Given the description of an element on the screen output the (x, y) to click on. 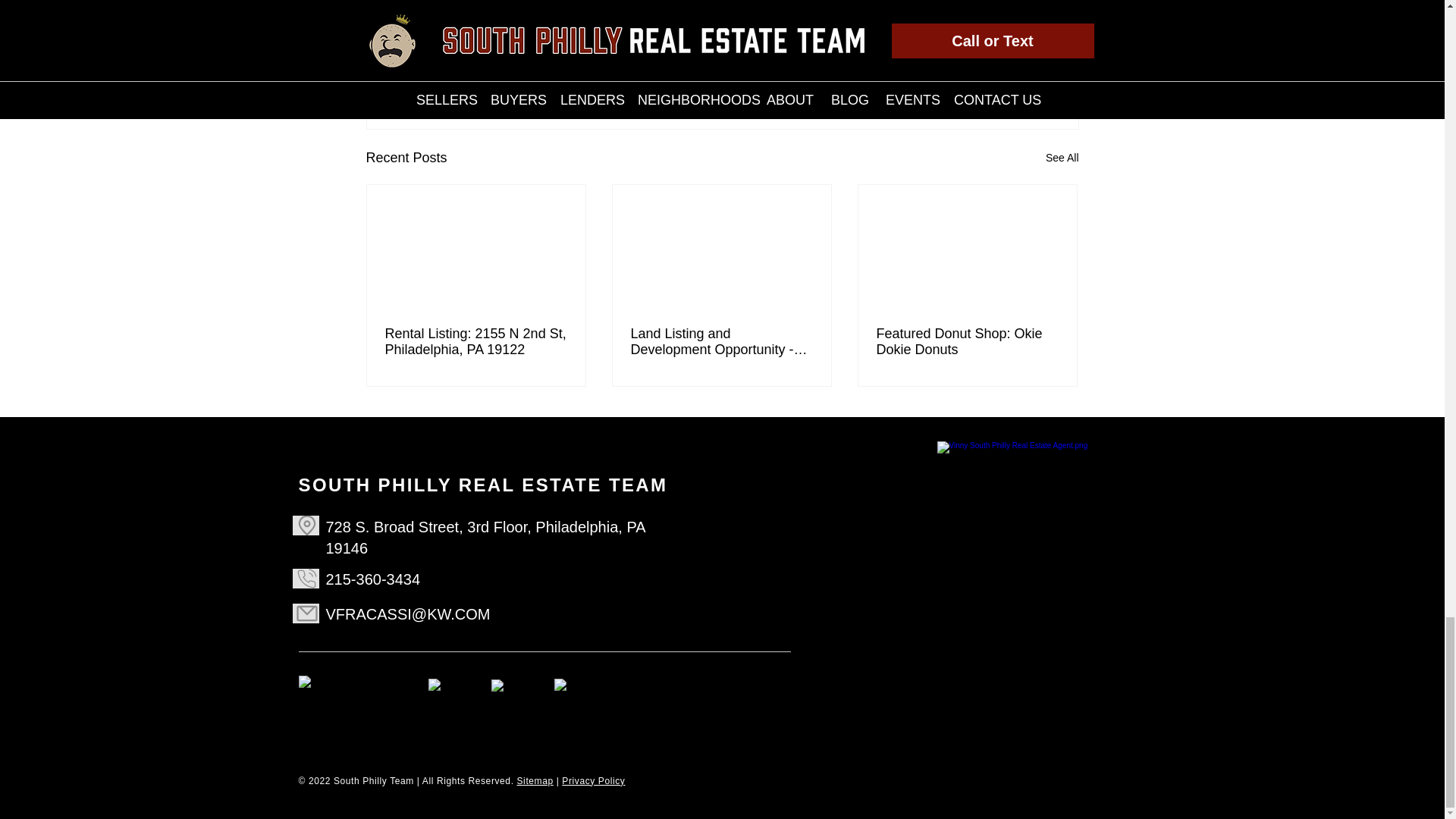
Rental Listing: 2155 N 2nd St, Philadelphia, PA 19122 (476, 341)
Featured Donut Shop: Okie Dokie Donuts (967, 341)
215-360-3434 (373, 579)
See All (1061, 157)
